Given the description of an element on the screen output the (x, y) to click on. 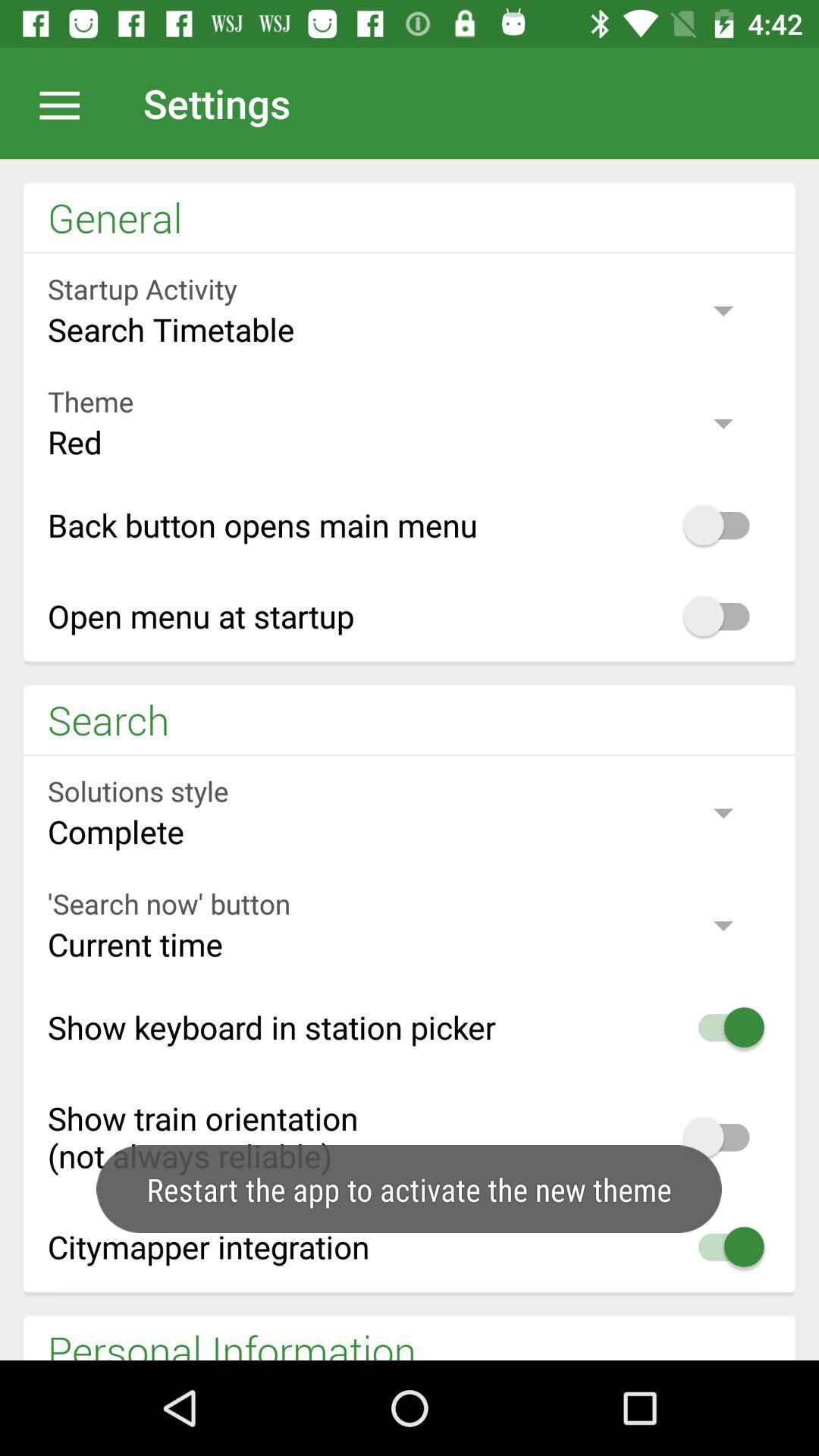
select the third option in the search (409, 1027)
go to the first drop down from general (409, 309)
select the text back button opens main menu (409, 524)
select the text which is fourth option in general (409, 615)
